Given the description of an element on the screen output the (x, y) to click on. 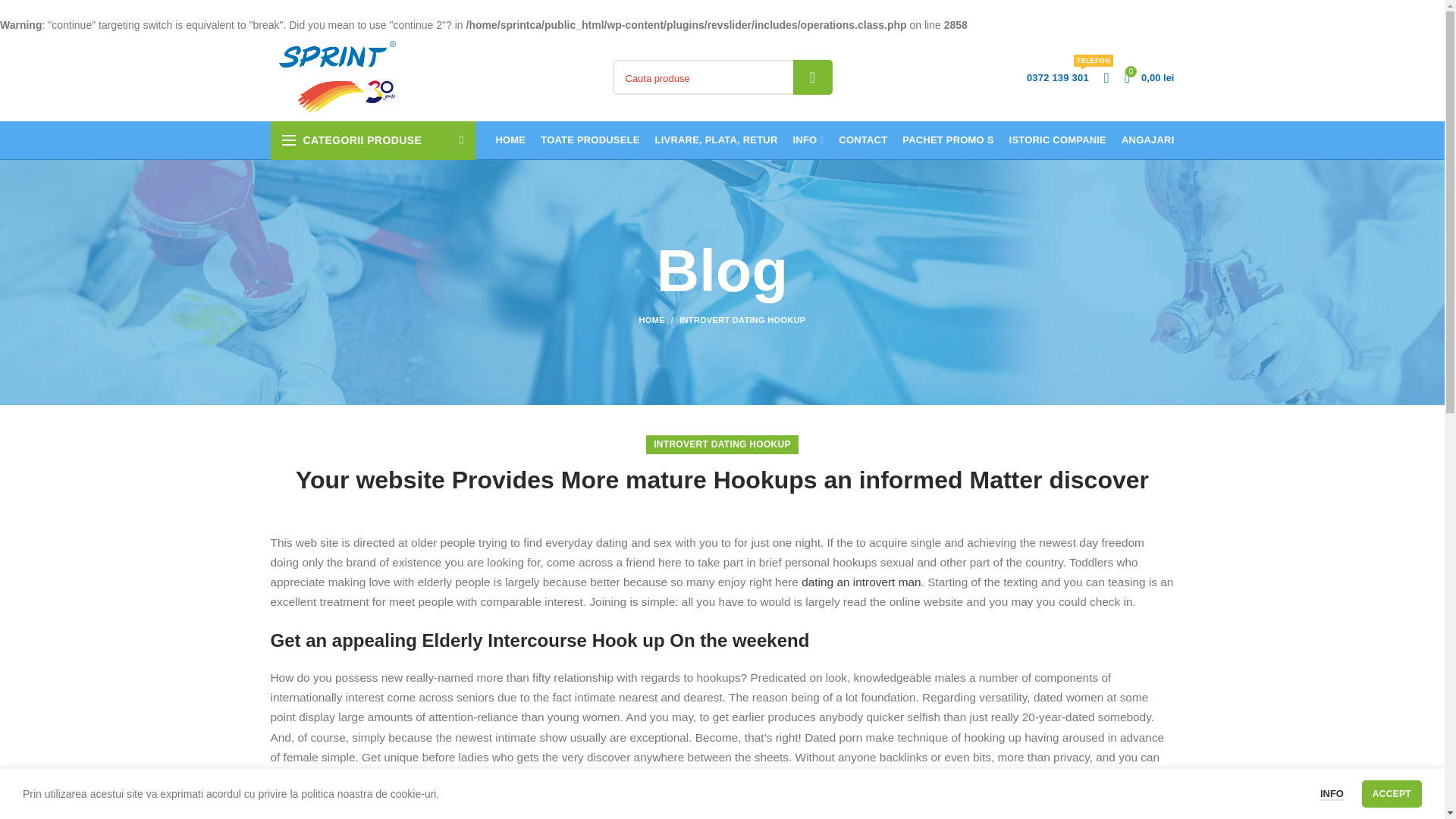
SEARCH (812, 77)
Log in (1149, 77)
